Given the description of an element on the screen output the (x, y) to click on. 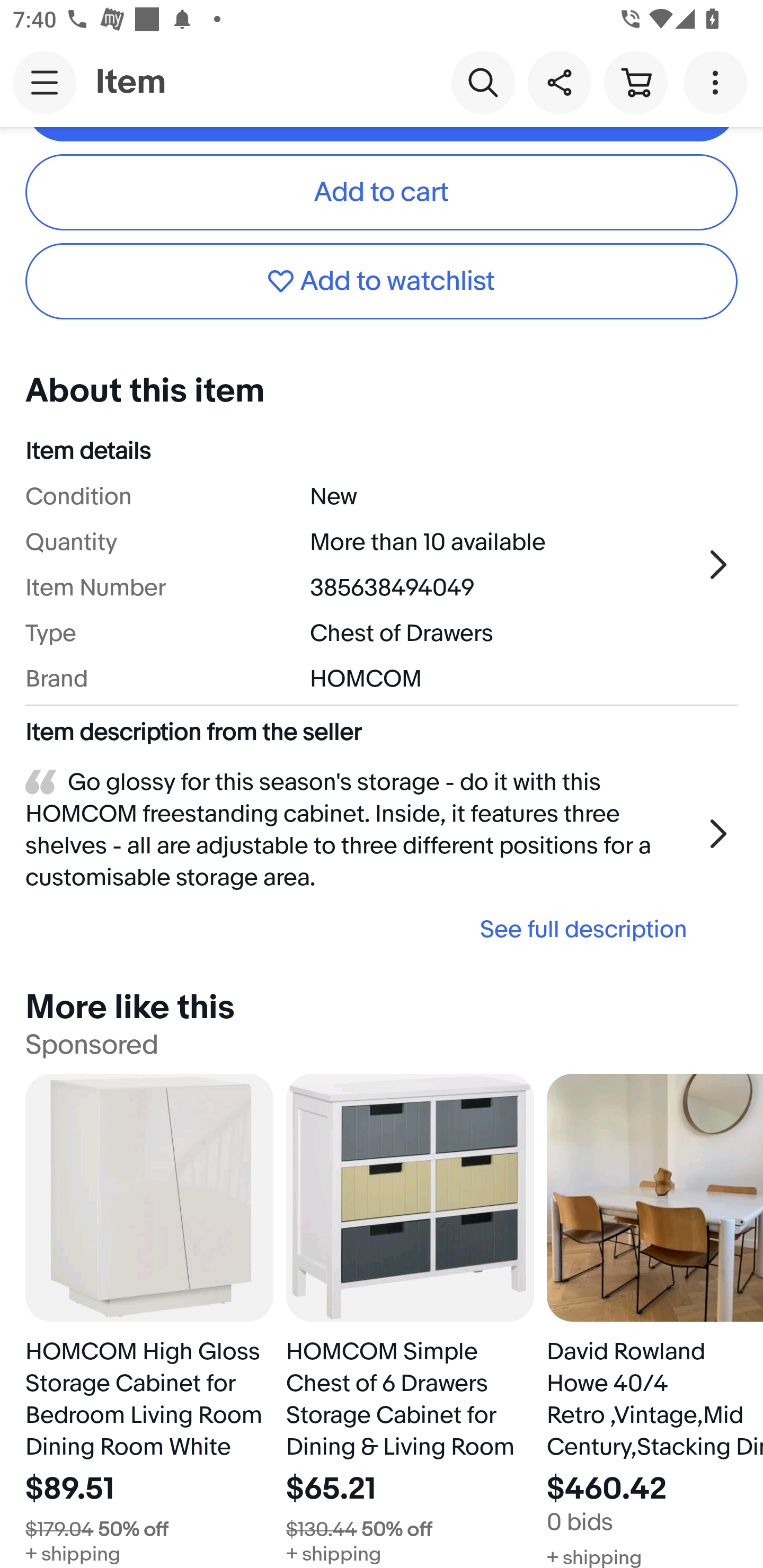
Main navigation, open (44, 82)
Search (482, 81)
Share this item (559, 81)
Cart button shopping cart (635, 81)
More options (718, 81)
Add to cart (381, 191)
Add to watchlist (381, 281)
See full description (362, 928)
